Given the description of an element on the screen output the (x, y) to click on. 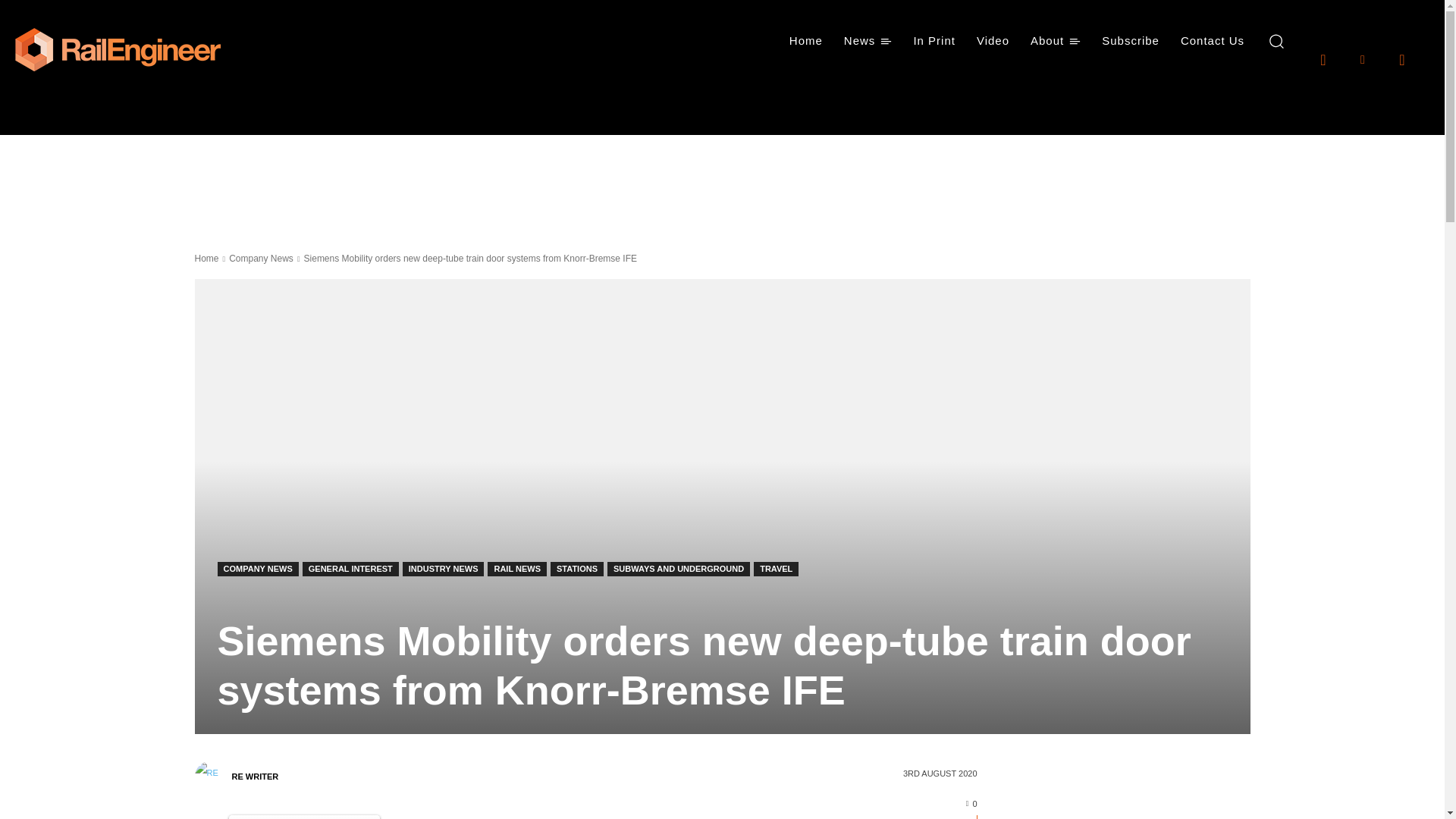
About (1055, 40)
Home (805, 40)
In Print (934, 40)
News (867, 40)
Video (993, 40)
Twitter (1401, 58)
Facebook (1322, 58)
Linkedin (1361, 58)
